Given the description of an element on the screen output the (x, y) to click on. 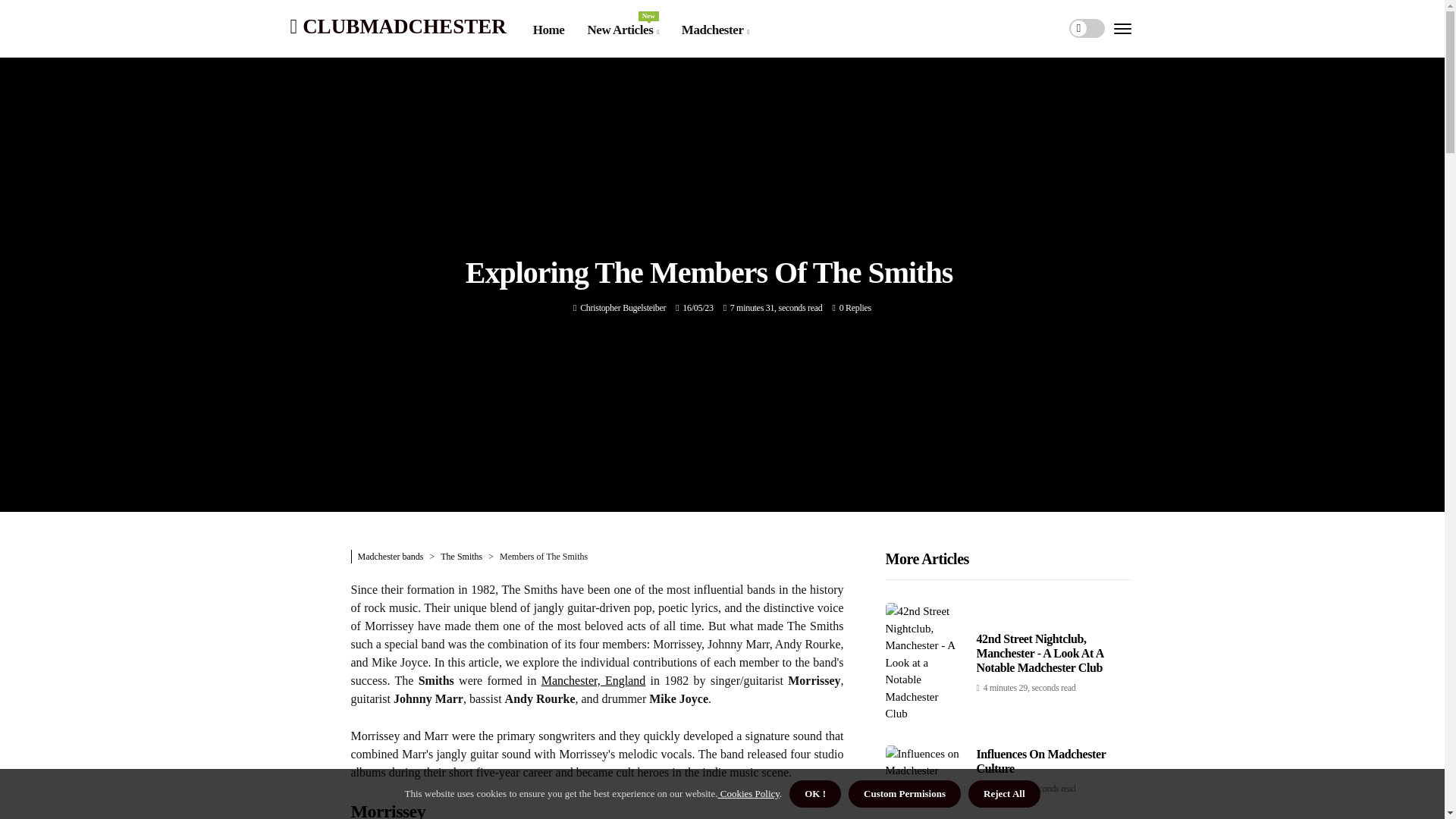
CLUBMADCHESTER (622, 30)
Posts by Christopher Bugelsteiber (397, 26)
Madchester (622, 307)
